Given the description of an element on the screen output the (x, y) to click on. 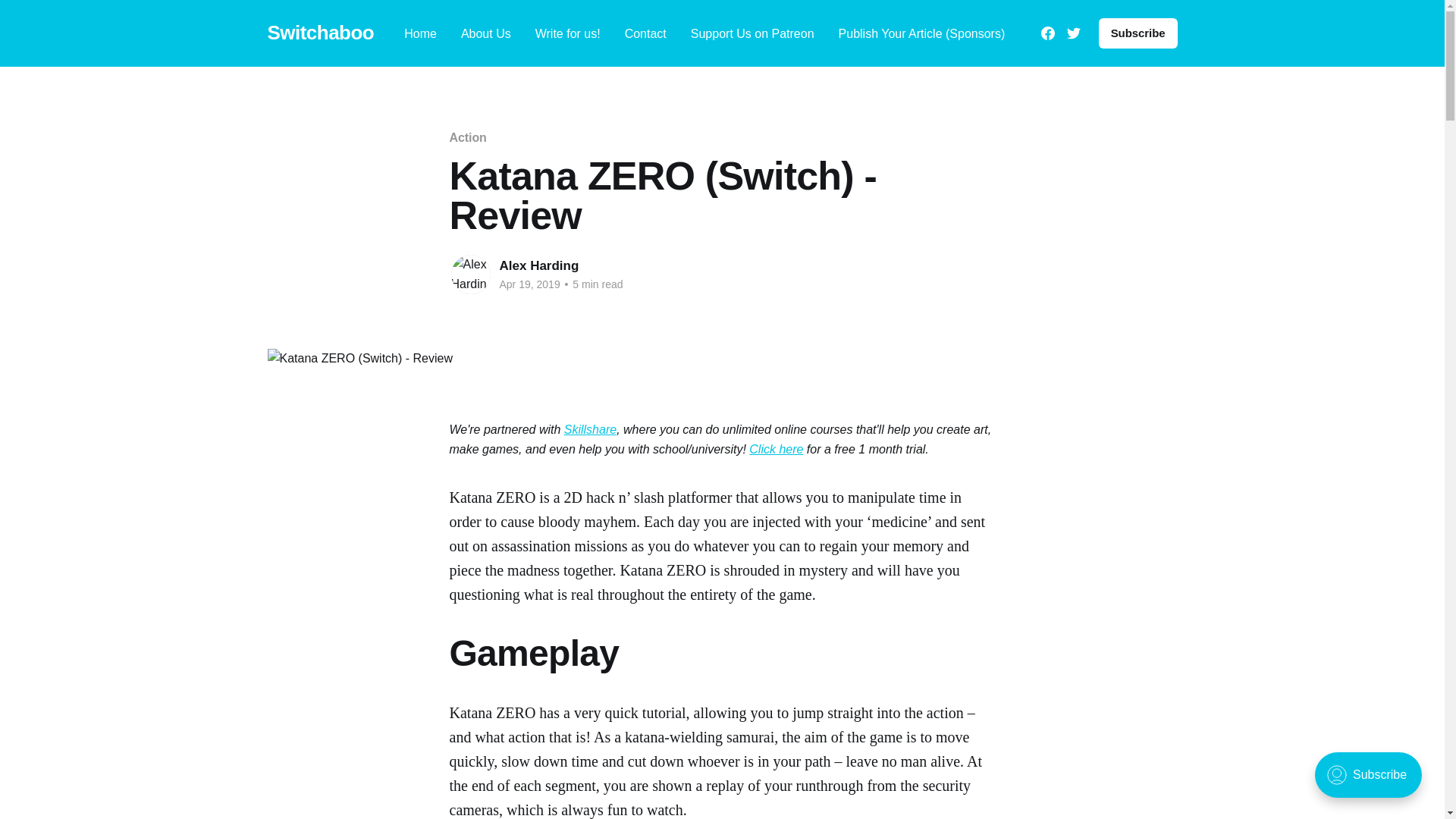
Support Us on Patreon (751, 33)
Twitter (1073, 33)
Skillshare (589, 429)
Click here (776, 449)
Write for us! (567, 33)
About Us (486, 33)
Home (420, 33)
Contact (645, 33)
Subscribe (1138, 33)
Alex Harding (538, 265)
Facebook (1047, 33)
Switchaboo (320, 32)
Action (467, 137)
